Given the description of an element on the screen output the (x, y) to click on. 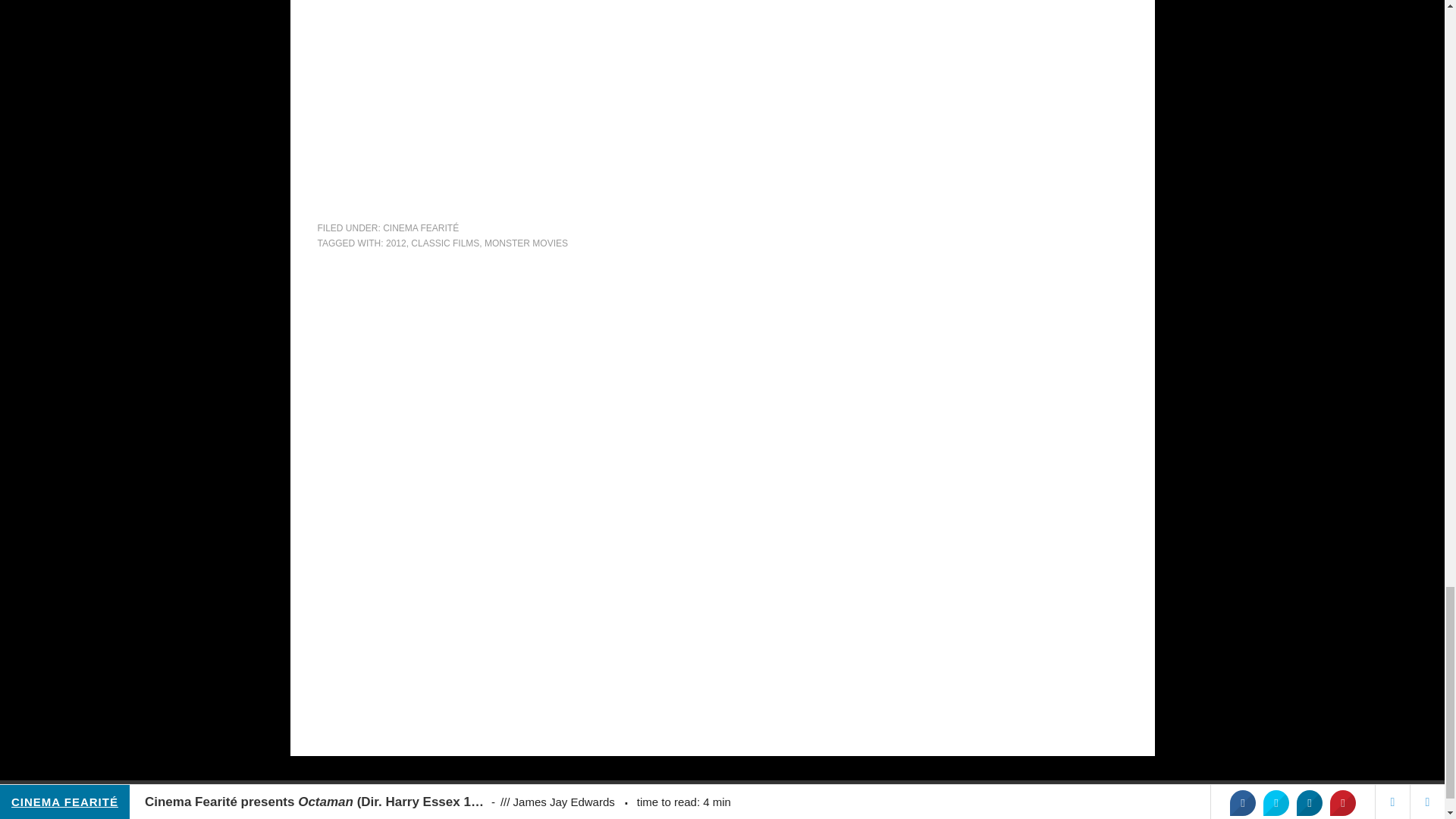
MONSTER MOVIES (525, 243)
CLASSIC FILMS (444, 243)
2012 (395, 243)
